Given the description of an element on the screen output the (x, y) to click on. 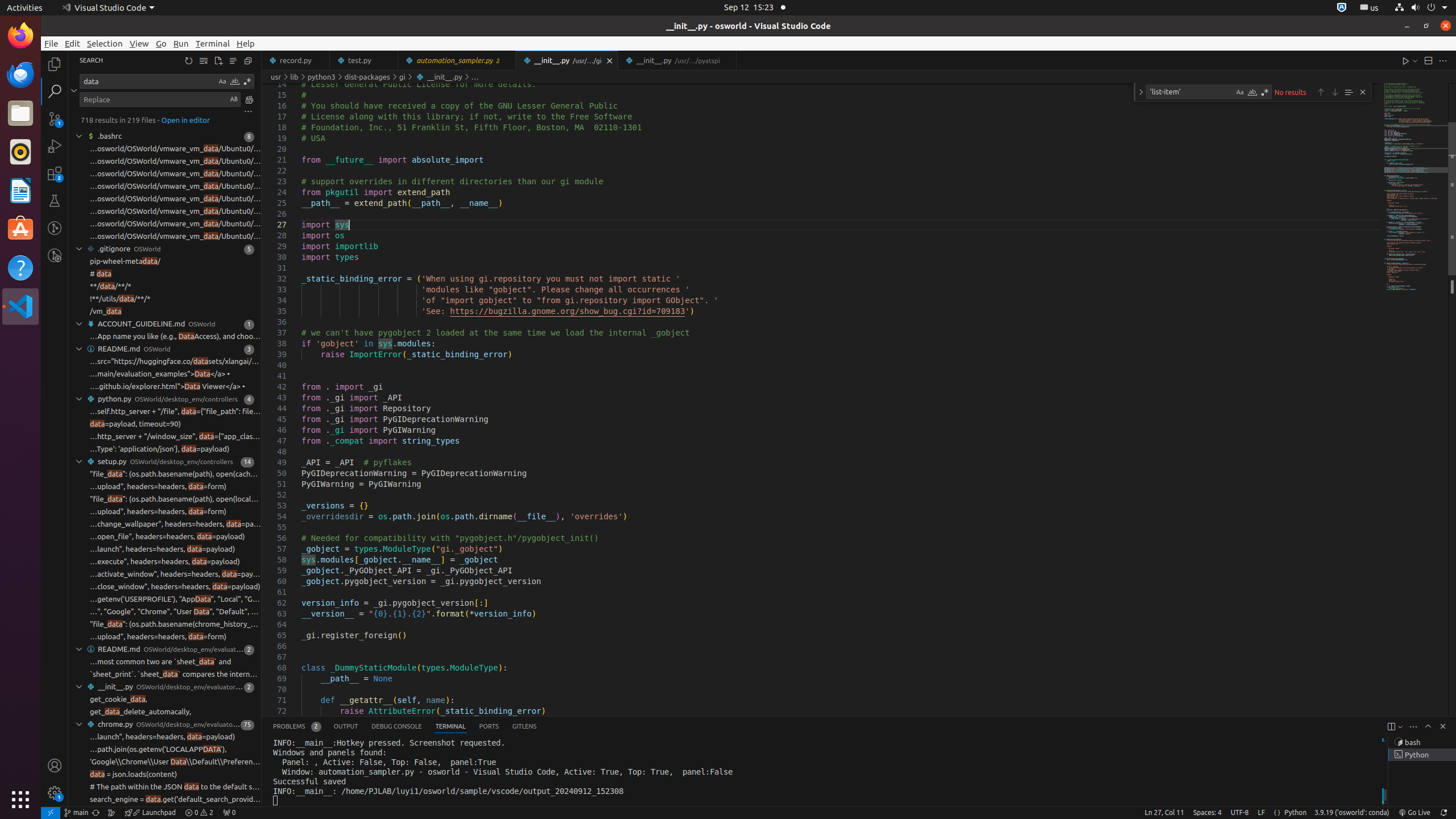
' response = requests.post(self.http_server + "/setup" + "/upload", headers=headers, data=form)' at column 96 found data Element type: tree-item (164, 636)
broadcast Go Live, Click to run live server Element type: push-button (1414, 812)
Close (Escape) Element type: push-button (1362, 91)
…upload", headers=headers, data=form) Element type: link (157, 486)
Search (Ctrl+Shift+F) Element type: page-tab (54, 91)
